Given the description of an element on the screen output the (x, y) to click on. 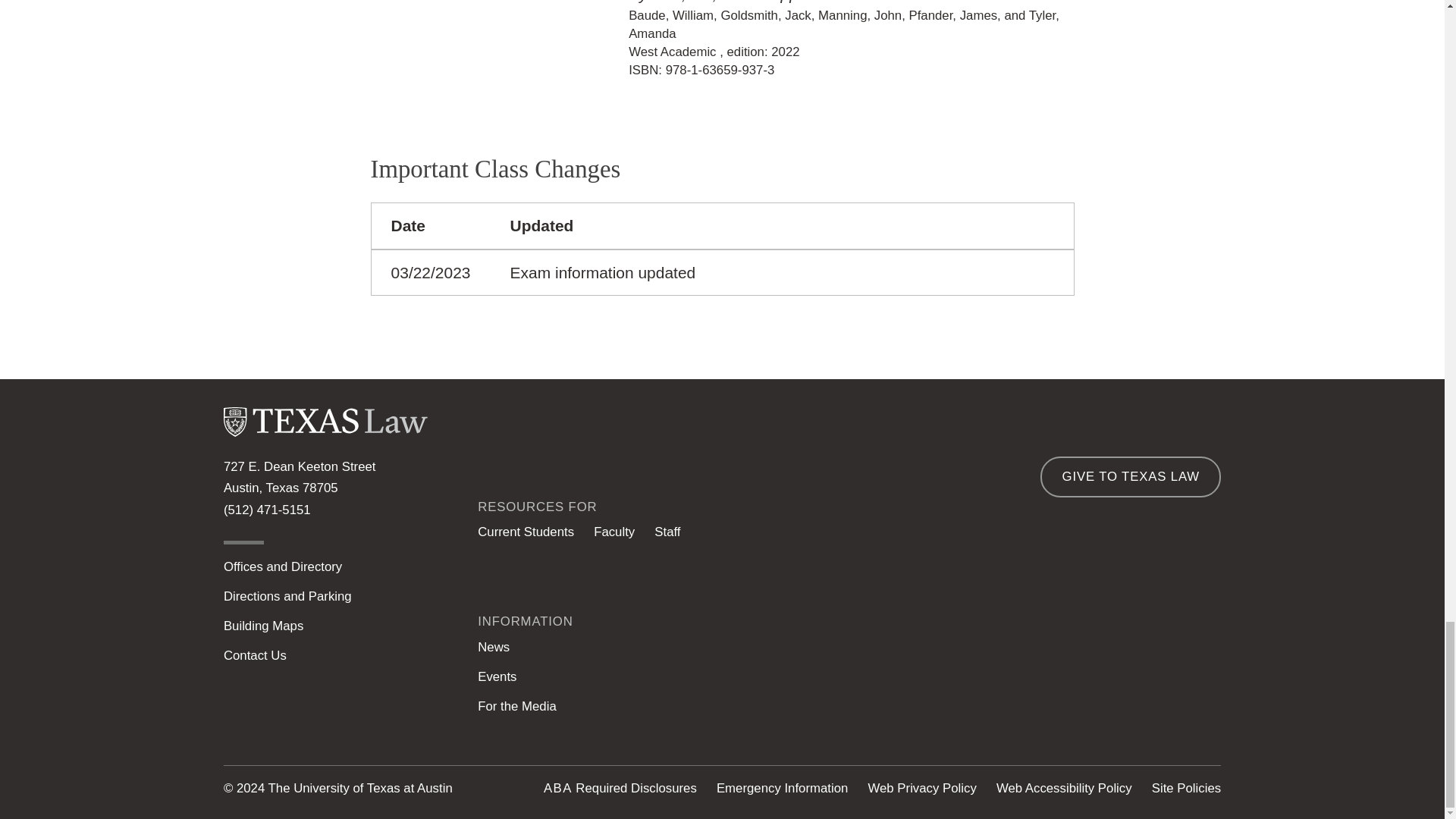
Facebook (1091, 696)
LinkedIn (973, 696)
Flickr (1206, 696)
Twitter (1031, 696)
American Bar Association (557, 788)
Instagram (915, 696)
YouTube (1147, 696)
